Given the description of an element on the screen output the (x, y) to click on. 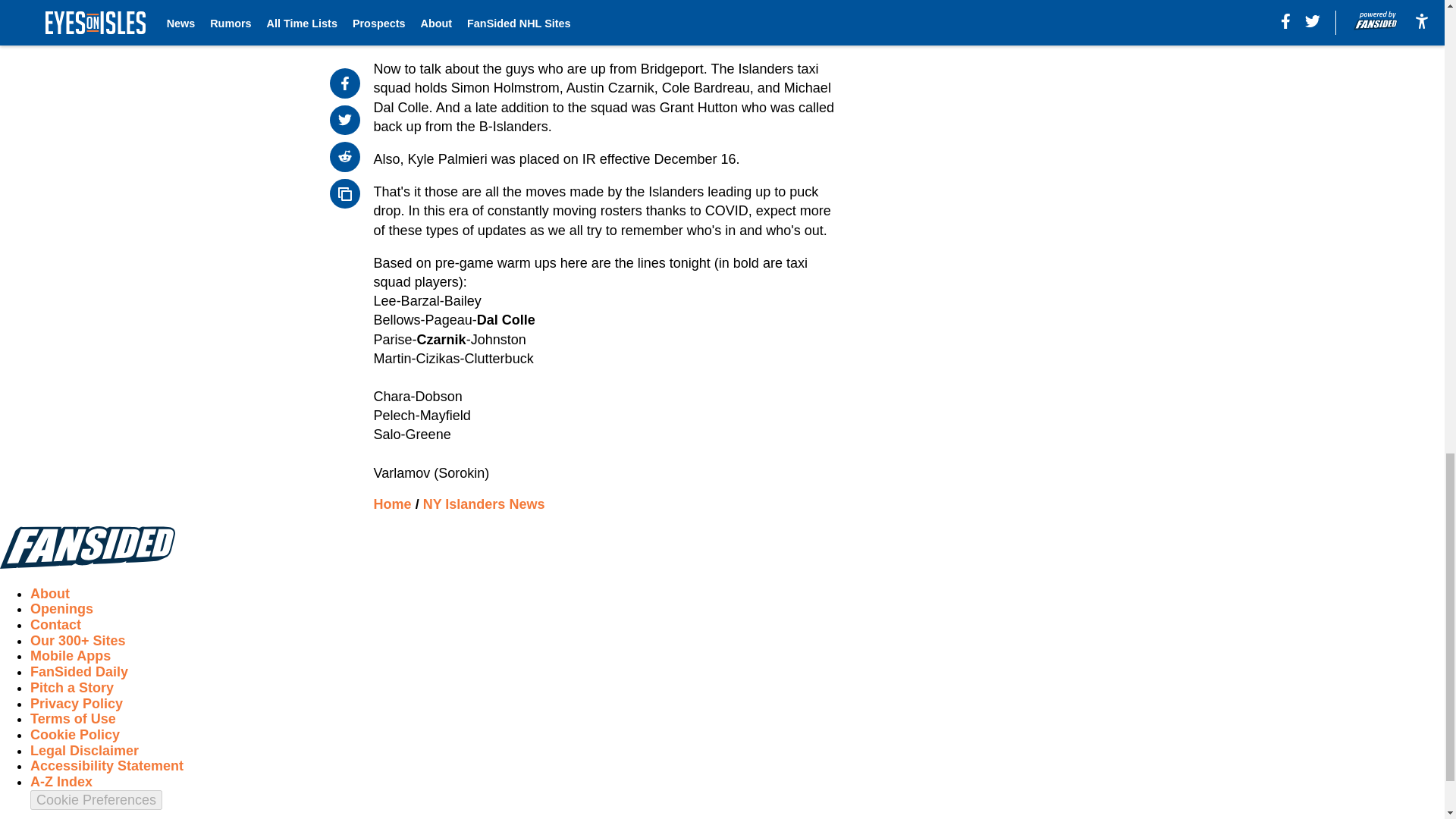
Privacy Policy (76, 703)
Mobile Apps (70, 655)
About (49, 593)
FanSided Daily (79, 671)
Contact (55, 624)
Pitch a Story (71, 687)
Terms of Use (73, 718)
Home (393, 503)
NY Islanders News (483, 503)
Openings (61, 608)
